Given the description of an element on the screen output the (x, y) to click on. 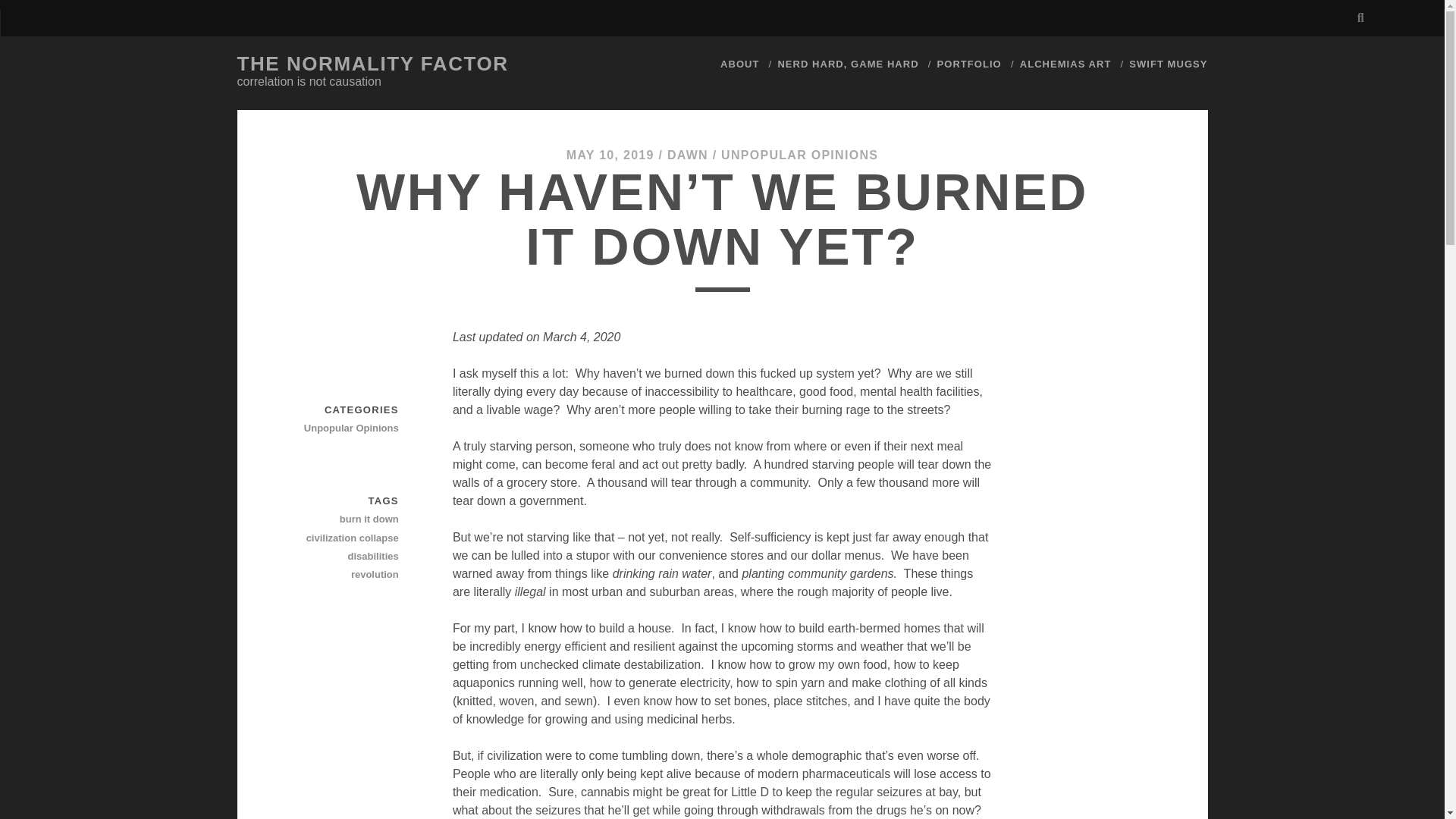
burn it down (344, 519)
View all posts tagged civilization collapse (344, 538)
View all posts tagged burn it down (344, 519)
THE NORMALITY FACTOR (371, 63)
ALCHEMIAS ART (1066, 64)
View all posts tagged revolution (344, 574)
View all posts tagged disabilities (344, 556)
revolution (344, 574)
UNPOPULAR OPINIONS (798, 154)
View all posts in Unpopular Opinions (344, 428)
PORTFOLIO (969, 64)
SWIFT MUGSY (1168, 64)
Posts by Dawn (686, 154)
Unpopular Opinions (344, 428)
civilization collapse (344, 538)
